Given the description of an element on the screen output the (x, y) to click on. 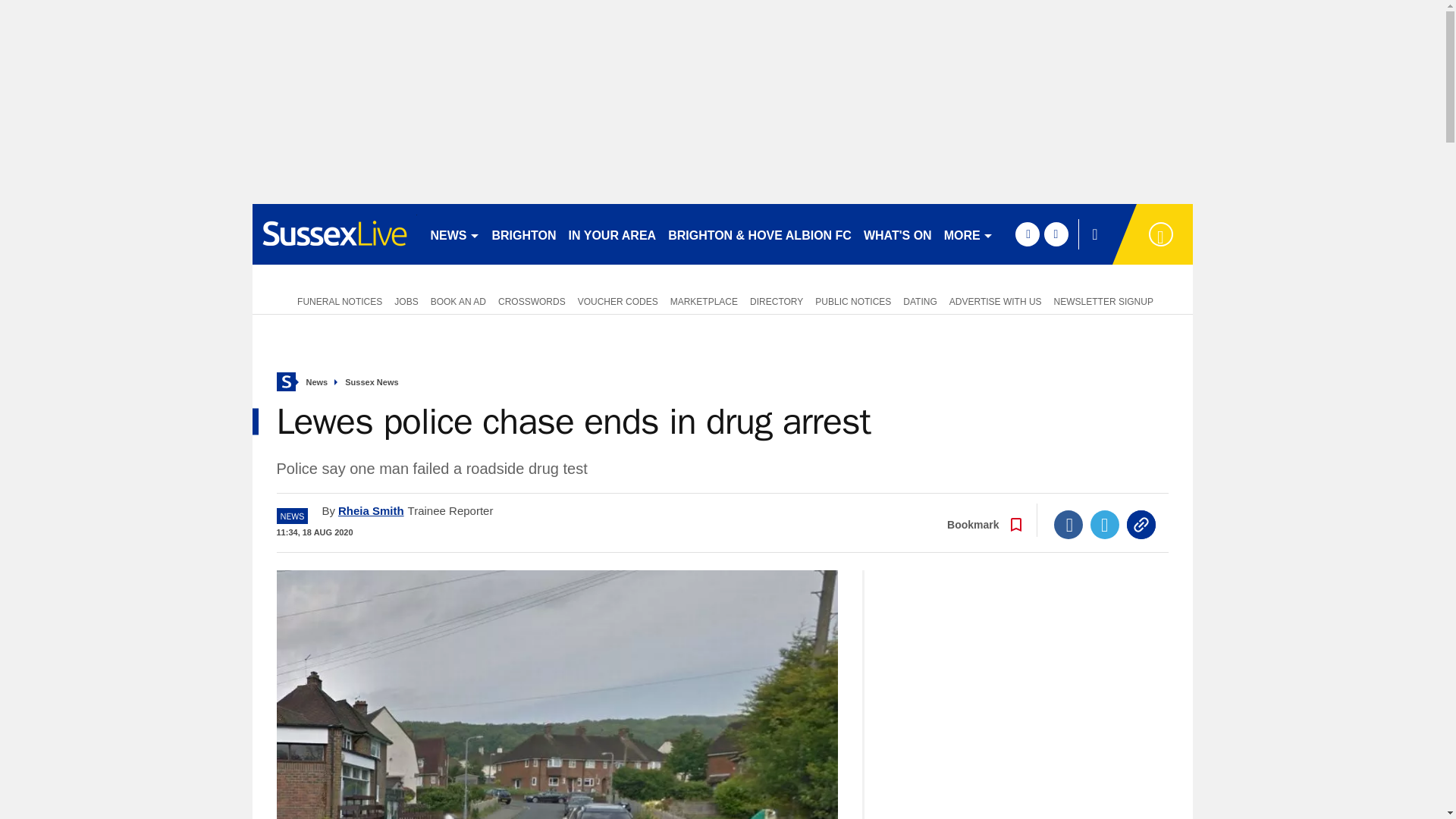
FUNERAL NOTICES (336, 300)
DIRECTORY (776, 300)
NEWS (455, 233)
MORE (967, 233)
CROSSWORDS (532, 300)
MARKETPLACE (703, 300)
PUBLIC NOTICES (852, 300)
Twitter (1104, 524)
WHAT'S ON (897, 233)
twitter (1055, 233)
